Given the description of an element on the screen output the (x, y) to click on. 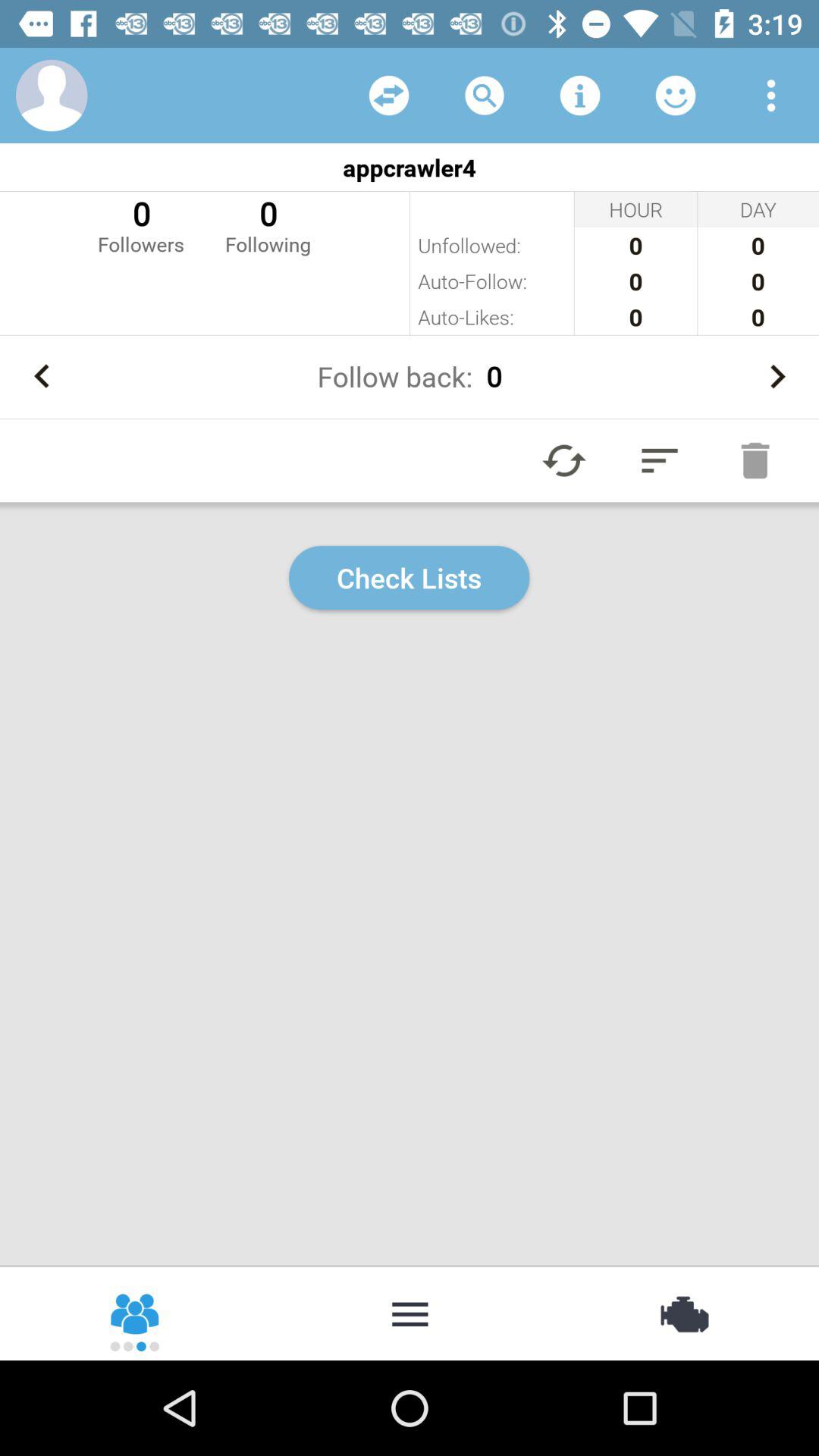
refresh (563, 460)
